Given the description of an element on the screen output the (x, y) to click on. 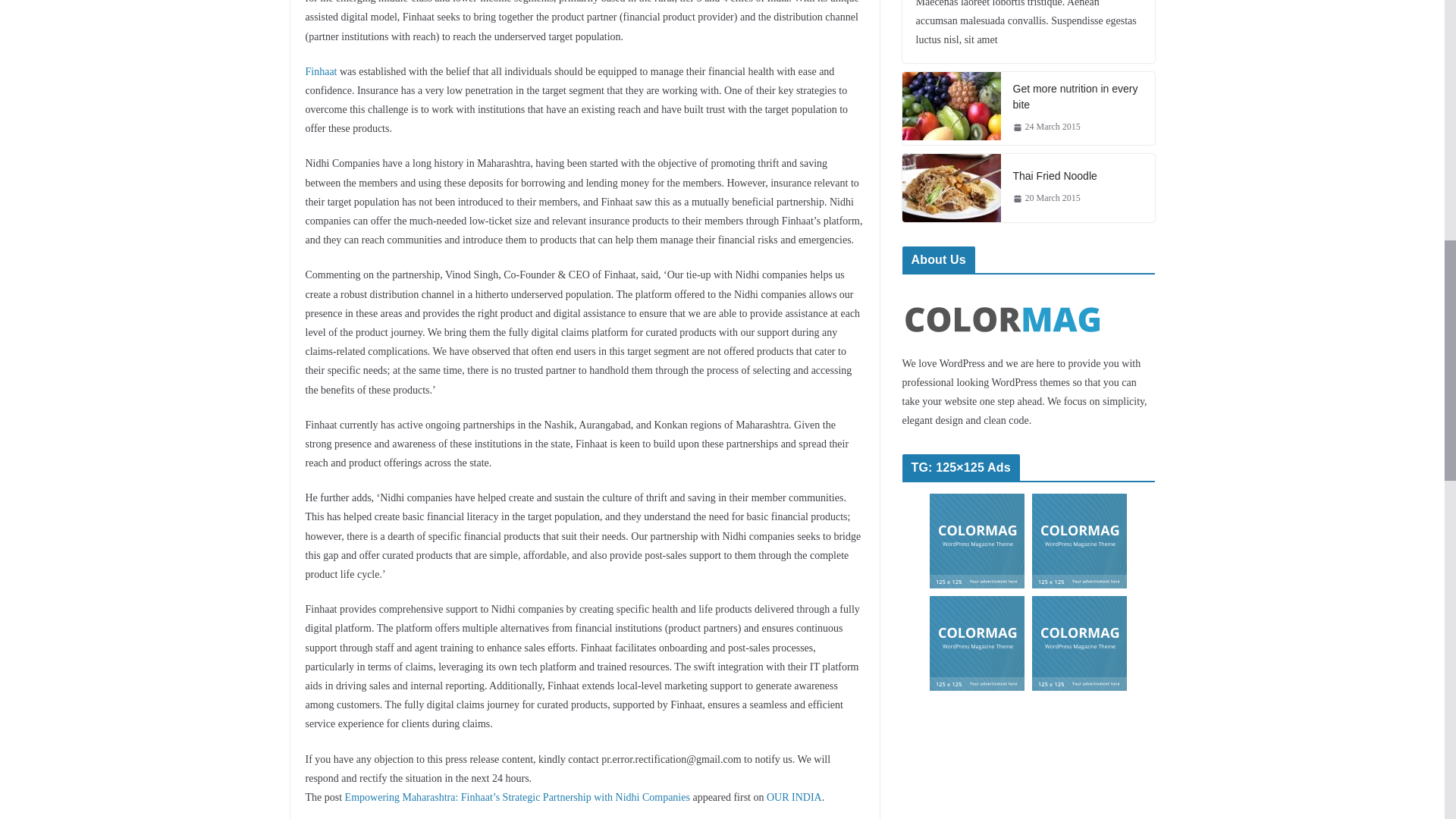
OUR INDIA (794, 797)
Get more nutrition in every bite (1077, 97)
Get more nutrition in every bite (1077, 97)
Finhaat (320, 71)
24 March 2015 (1046, 126)
Get more nutrition in every bite (951, 108)
Get more nutrition in every bite (951, 106)
